Given the description of an element on the screen output the (x, y) to click on. 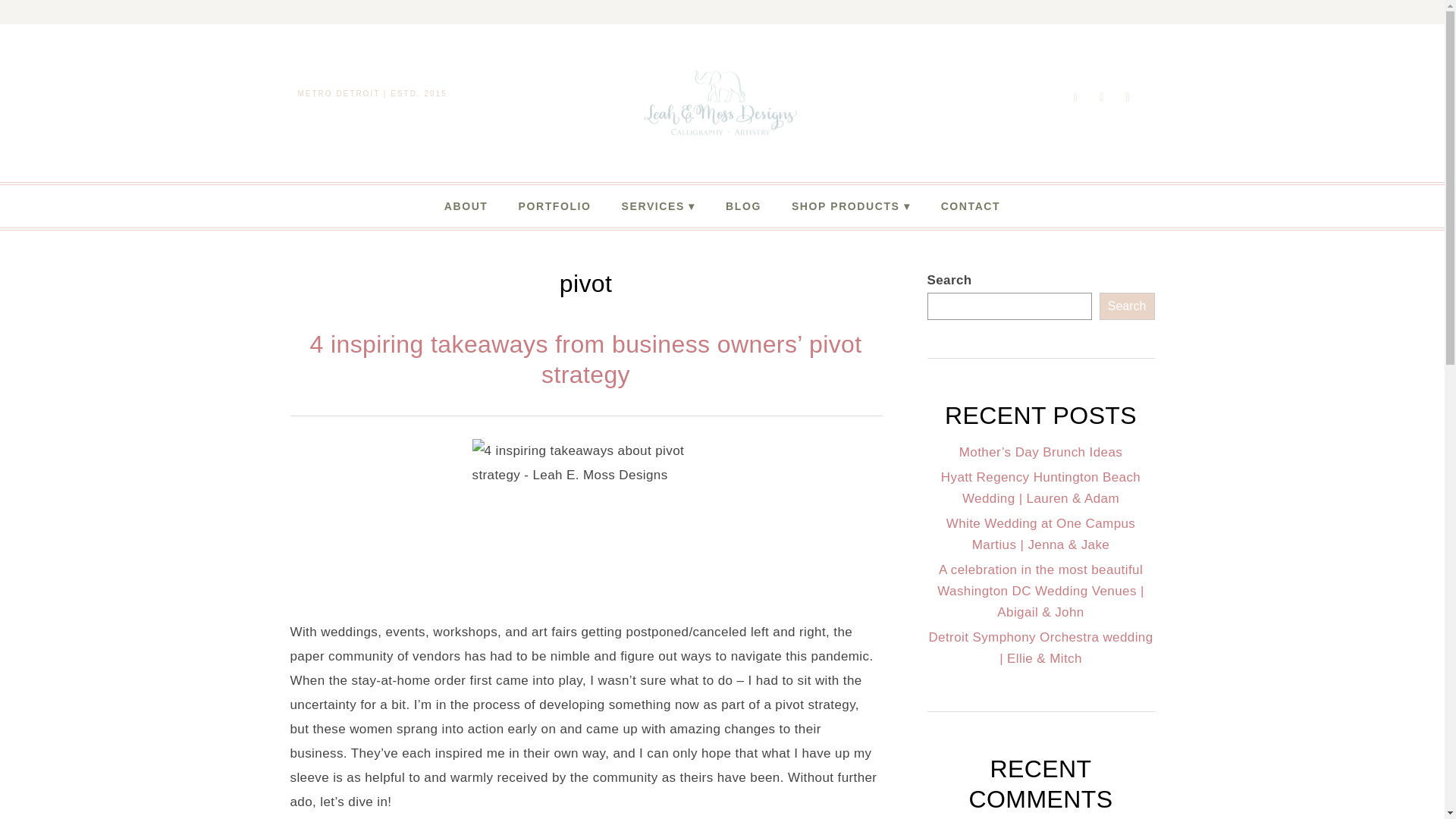
SERVICES (658, 206)
CONTACT (971, 206)
PORTFOLIO (555, 206)
BLOG (743, 206)
ABOUT (466, 206)
SHOP PRODUCTS (851, 206)
Search (1126, 306)
